Given the description of an element on the screen output the (x, y) to click on. 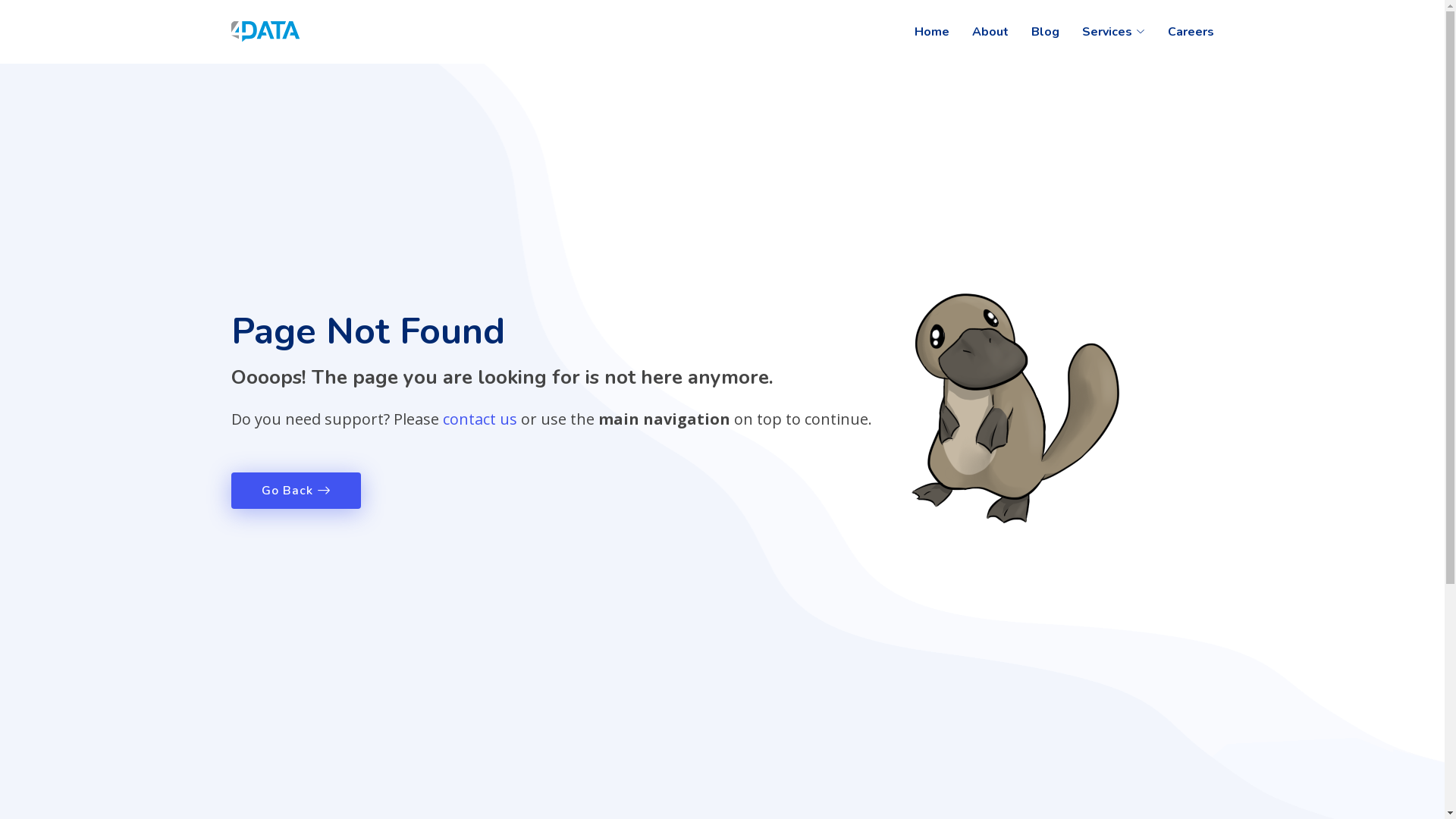
Blog Element type: text (1033, 31)
Go Back Element type: text (295, 490)
contact us Element type: text (479, 418)
Home Element type: text (920, 31)
About Element type: text (978, 31)
Careers Element type: text (1179, 31)
Services Element type: text (1101, 31)
